Given the description of an element on the screen output the (x, y) to click on. 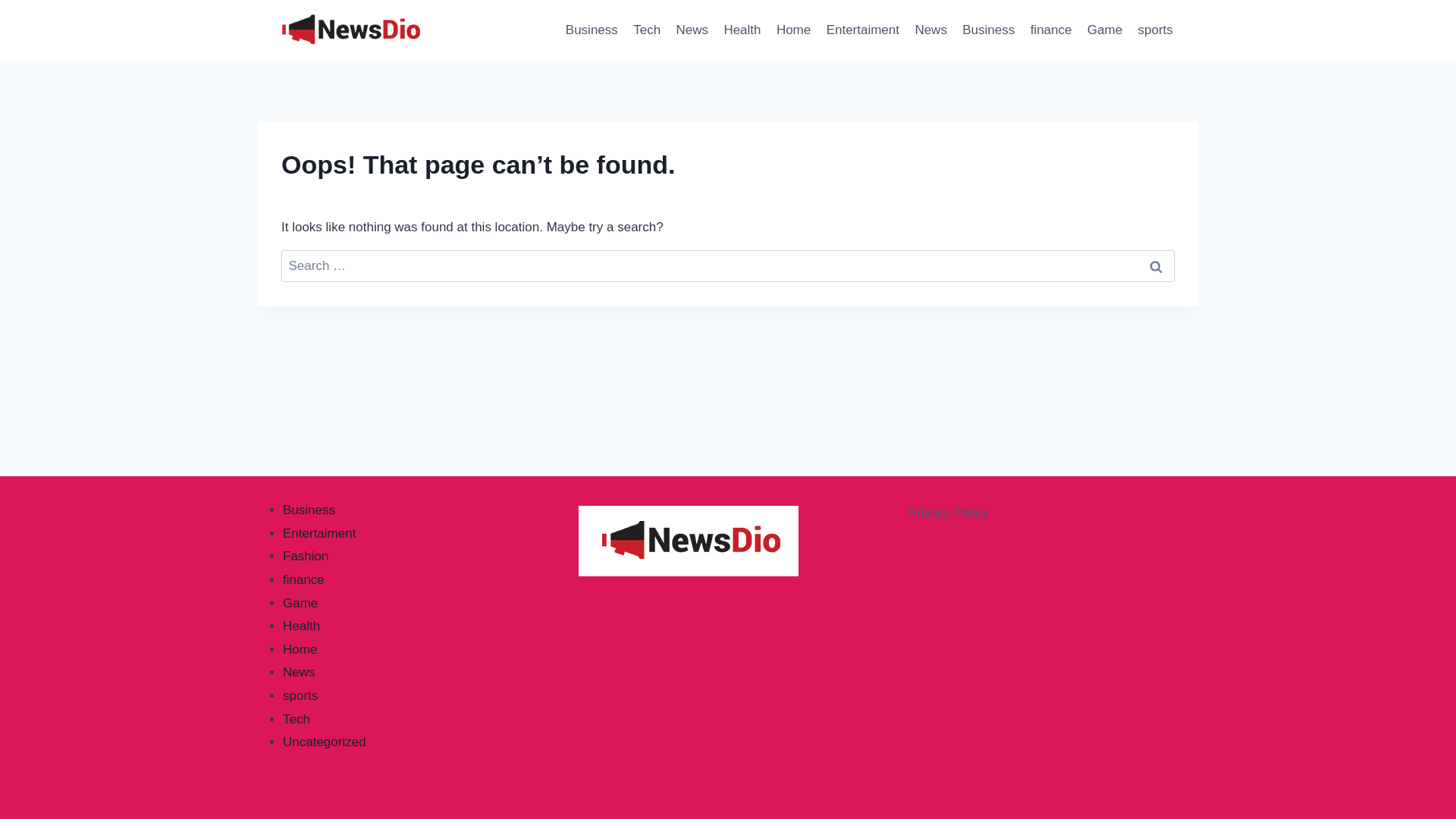
Entertaiment (318, 533)
finance (1050, 30)
Search (1155, 266)
finance (303, 579)
Home (299, 649)
Health (301, 626)
Game (1105, 30)
Business (308, 509)
News (931, 30)
News (692, 30)
